Given the description of an element on the screen output the (x, y) to click on. 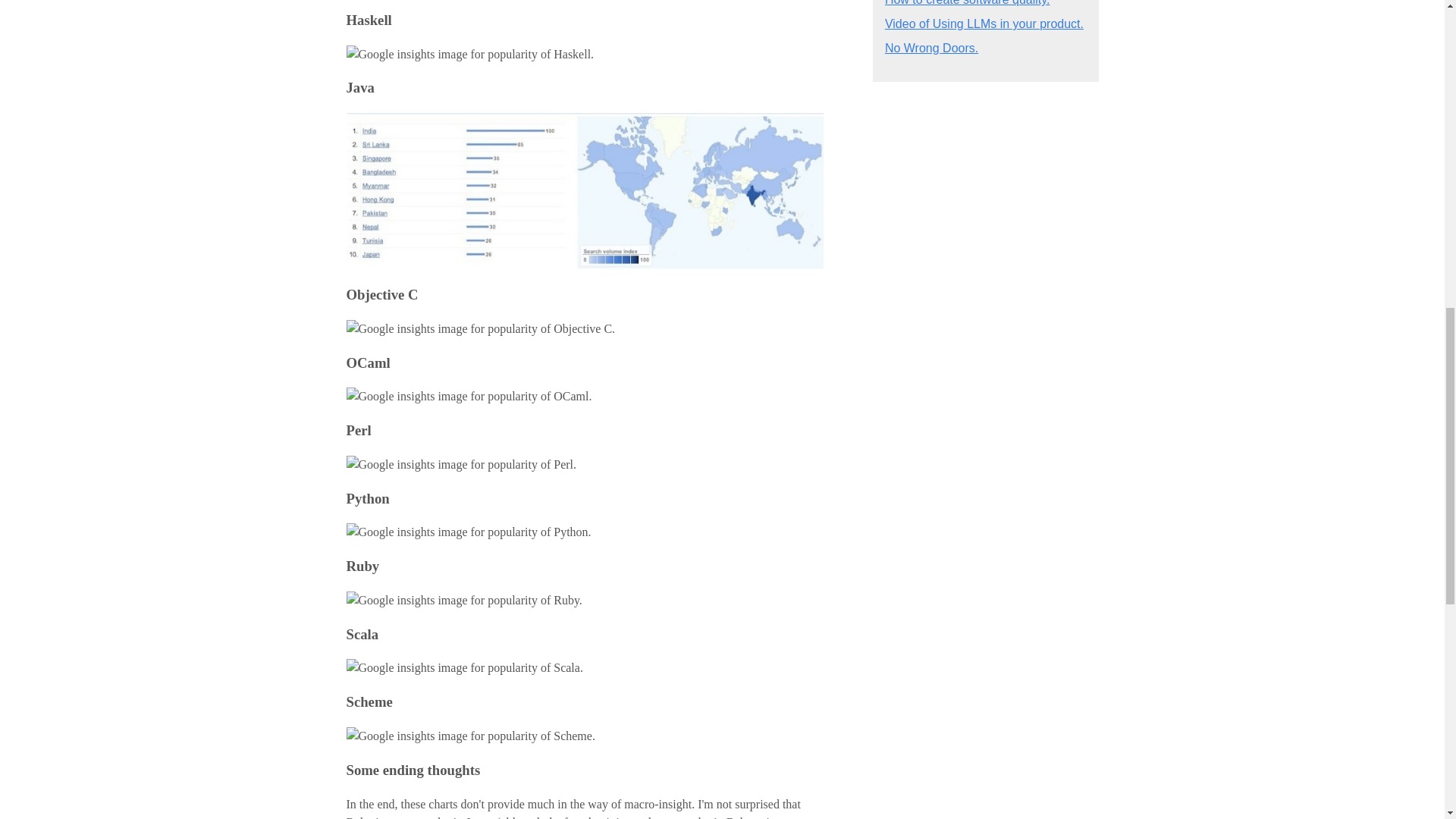
How to create software quality. (967, 2)
Video of Using LLMs in your product. (984, 23)
No Wrong Doors. (931, 47)
